Given the description of an element on the screen output the (x, y) to click on. 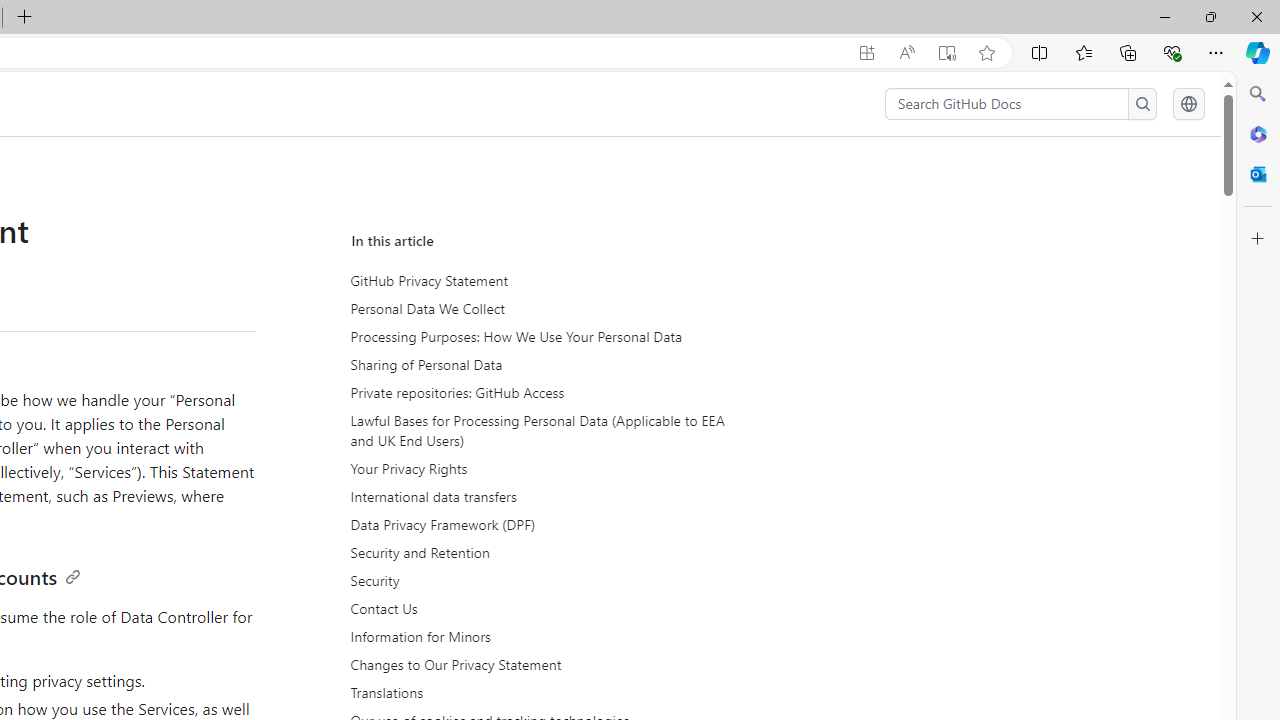
Contact Us (535, 608)
Translations (535, 692)
Personal Data We Collect (535, 309)
Processing Purposes: How We Use Your Personal Data (538, 337)
Changes to Our Privacy Statement (535, 664)
International data transfers (535, 497)
Security (538, 580)
Select language: current language is English (1188, 103)
Information for Minors (535, 636)
GitHub Privacy Statement (535, 281)
